Given the description of an element on the screen output the (x, y) to click on. 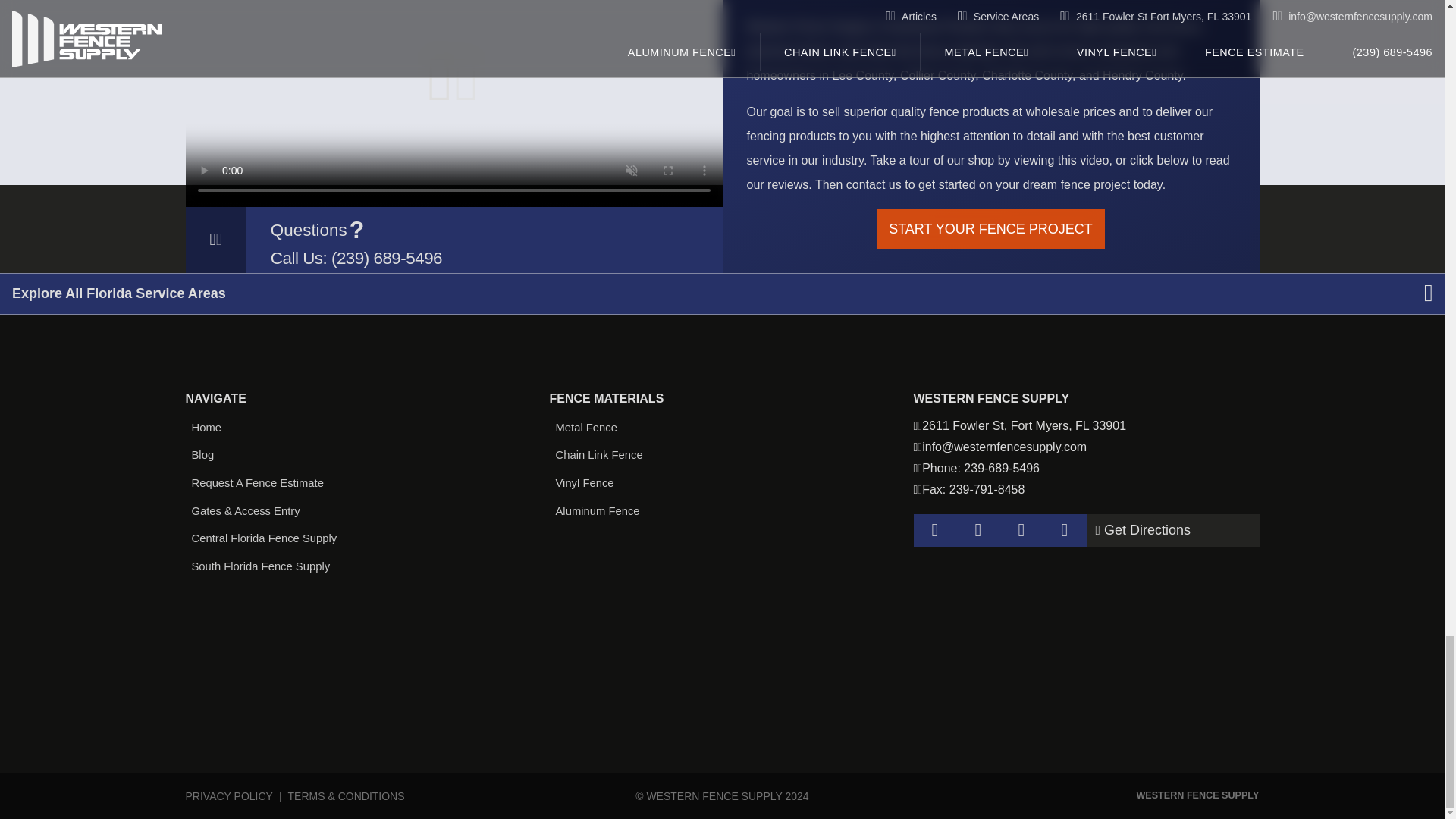
START YOUR FENCE PROJECT (990, 228)
